Given the description of an element on the screen output the (x, y) to click on. 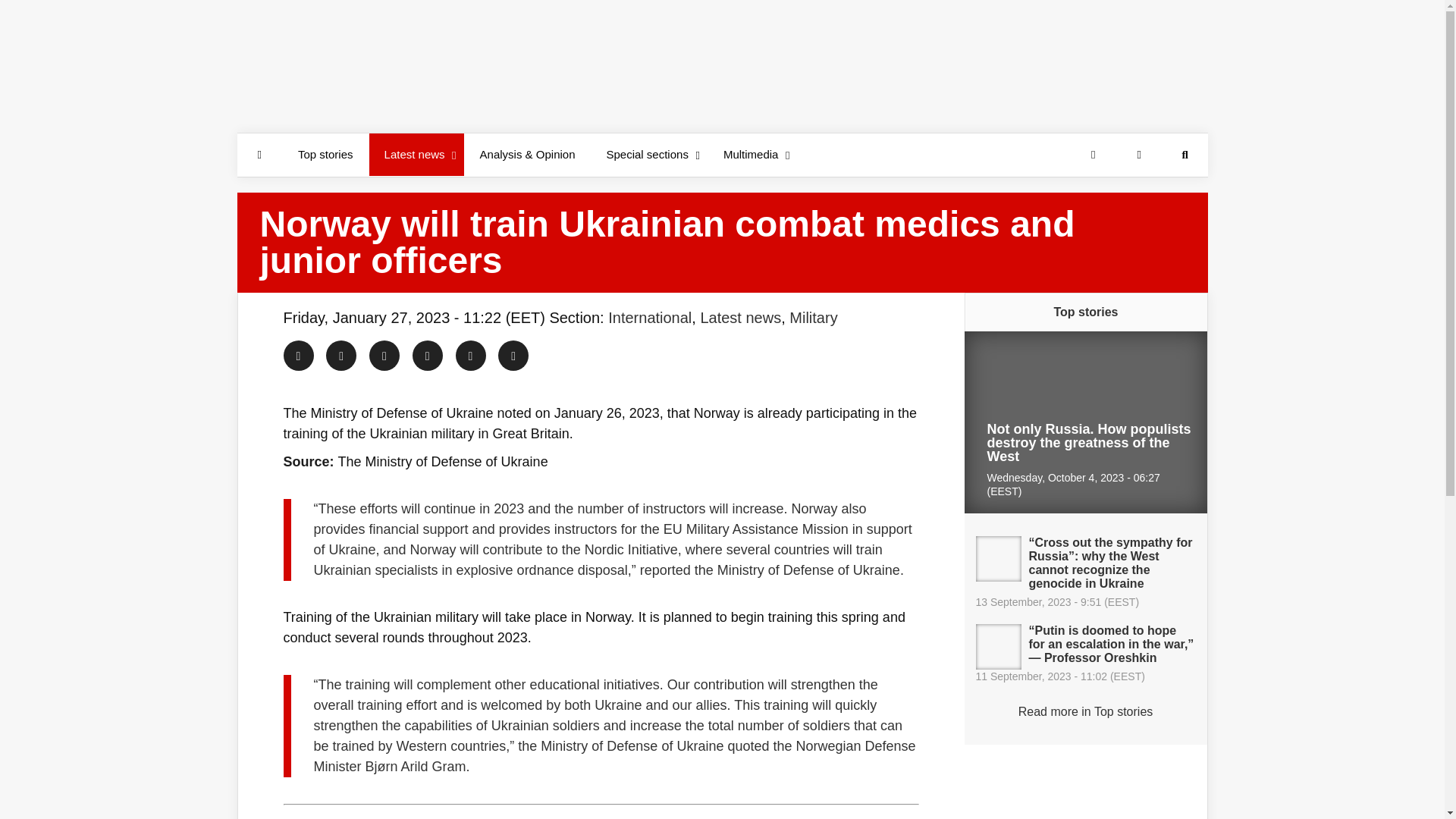
Top stories (325, 154)
Latest news (416, 154)
Special sections (647, 154)
International (649, 317)
Military (813, 317)
Multimedia (752, 154)
Latest news (740, 317)
